Given the description of an element on the screen output the (x, y) to click on. 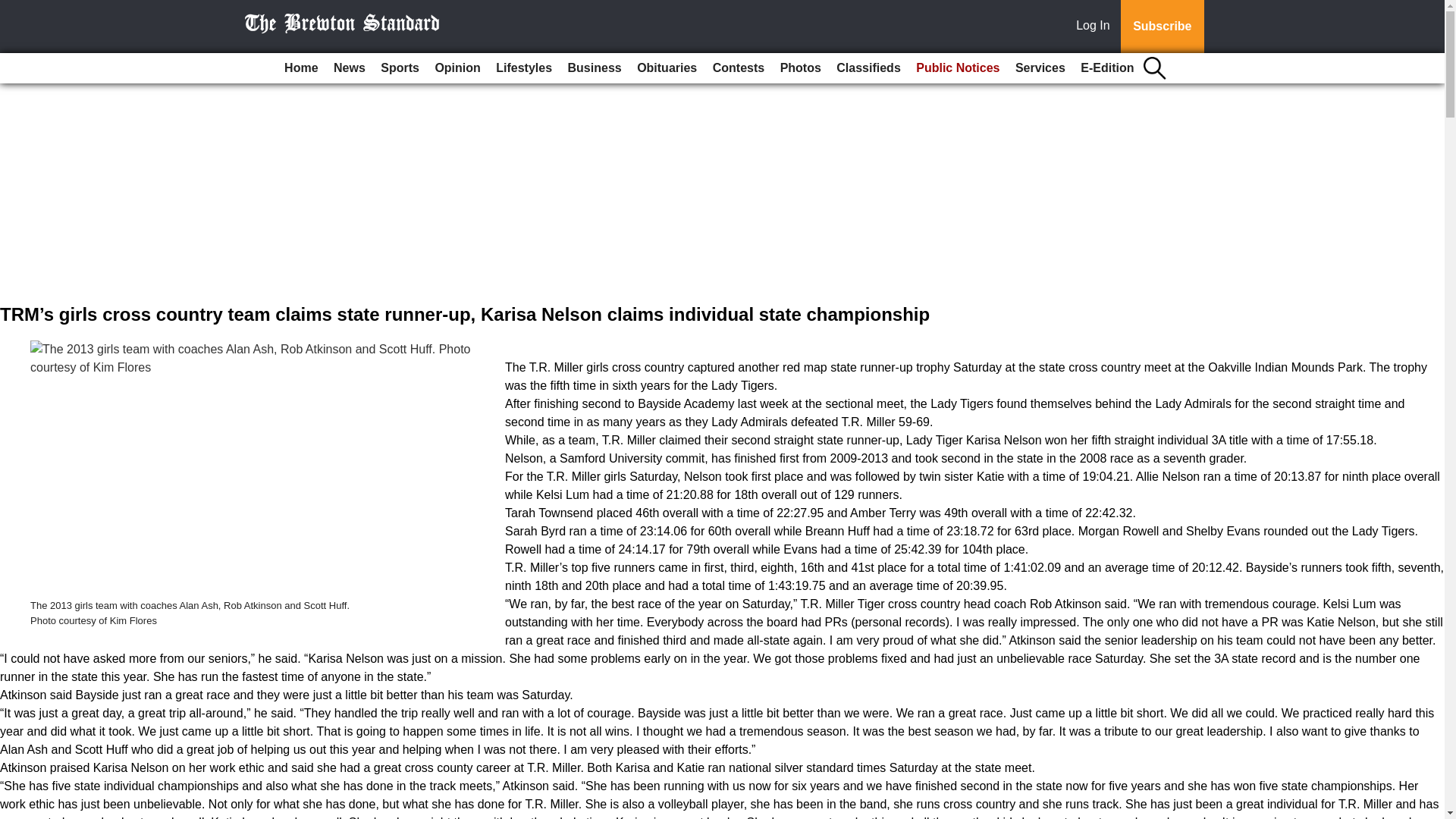
Log In (1095, 26)
Services (1040, 68)
Obituaries (666, 68)
Lifestyles (523, 68)
Contests (738, 68)
Opinion (457, 68)
News (349, 68)
Sports (399, 68)
Subscribe (1162, 26)
Go (13, 9)
Home (300, 68)
Business (594, 68)
Photos (800, 68)
Public Notices (958, 68)
Classifieds (867, 68)
